Given the description of an element on the screen output the (x, y) to click on. 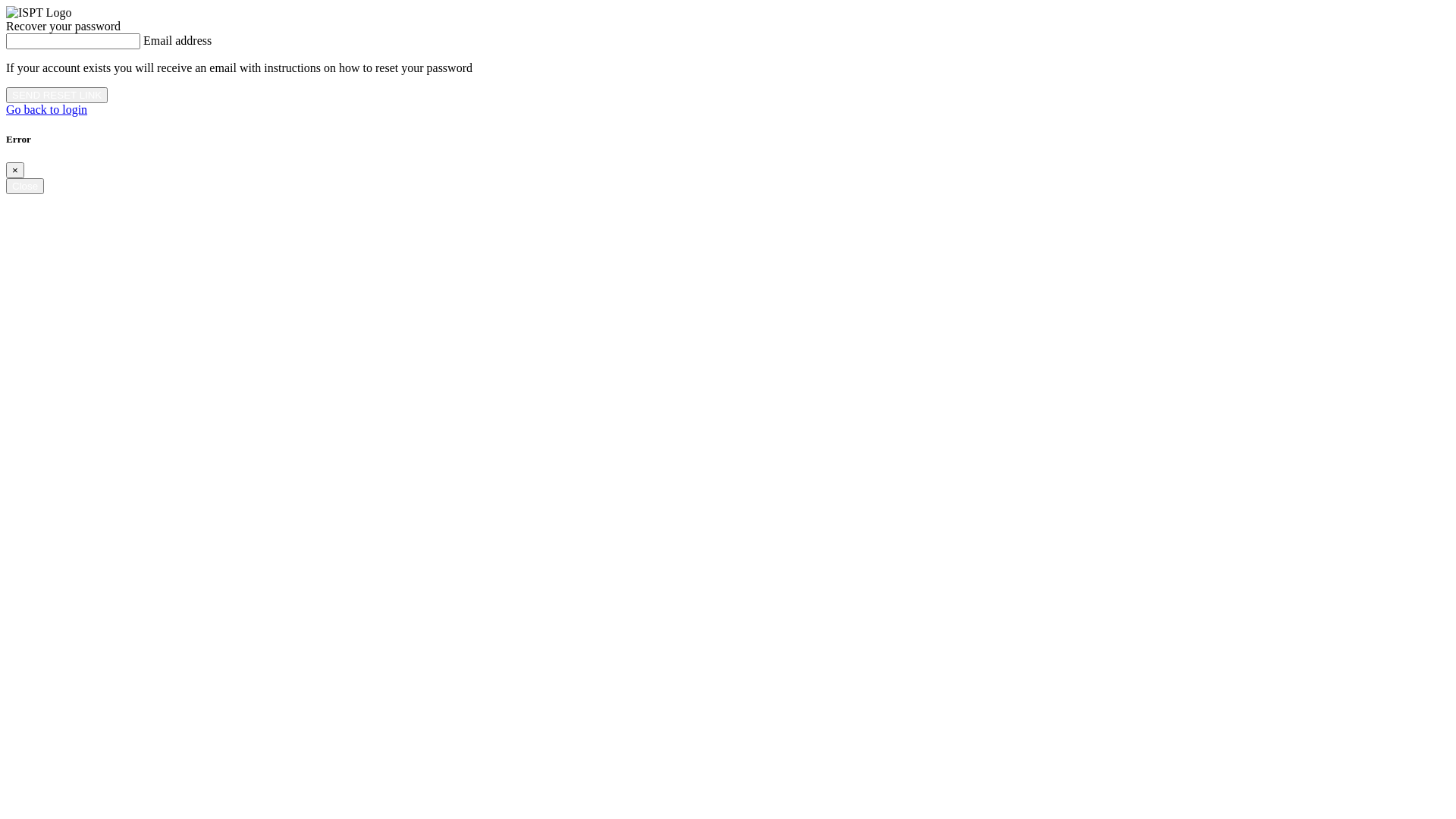
Go back to login Element type: text (46, 109)
SEND RESET LINK Element type: text (56, 95)
Close Element type: text (24, 186)
